Given the description of an element on the screen output the (x, y) to click on. 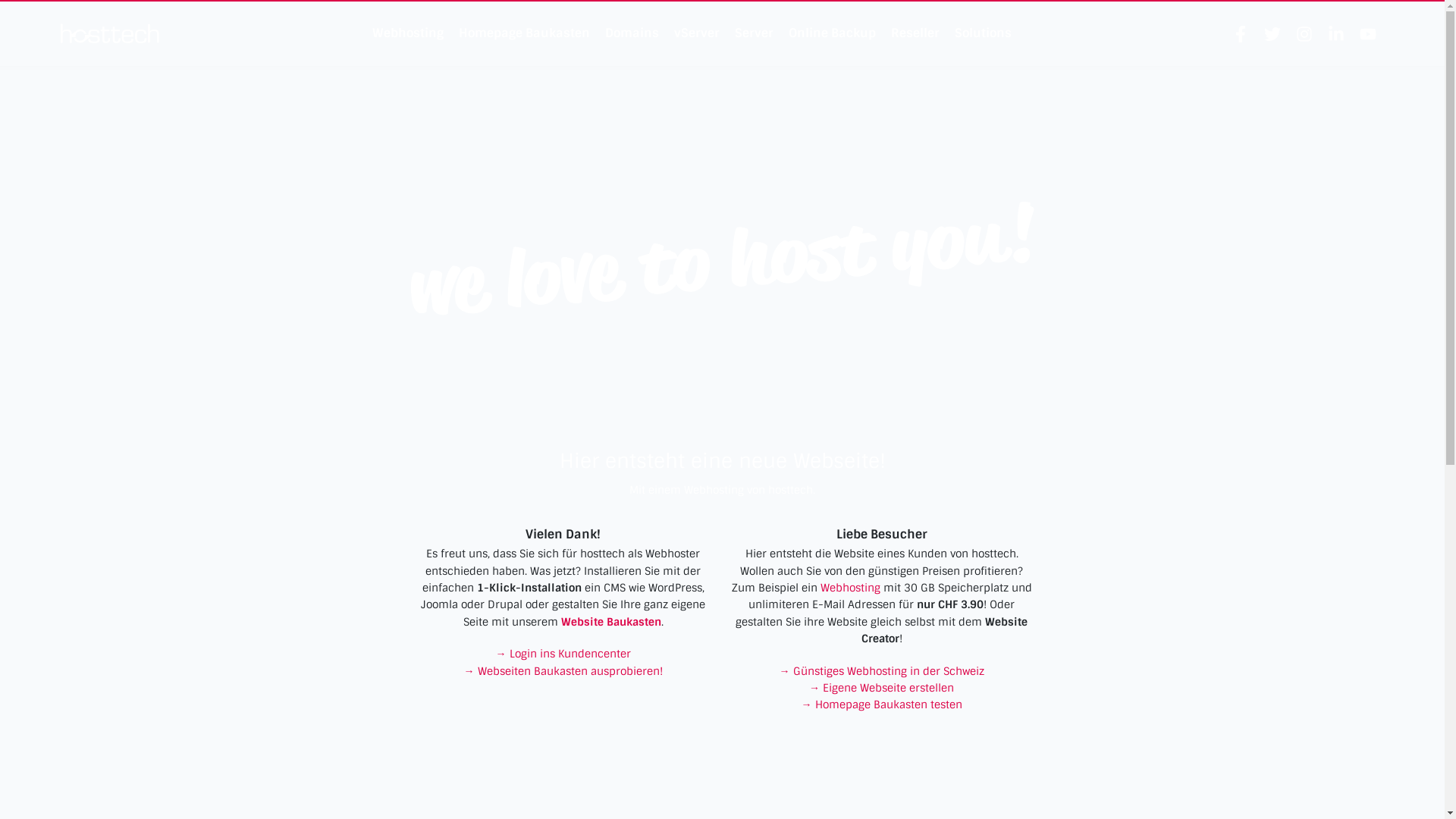
Webhosting Element type: text (407, 32)
Server Element type: text (753, 32)
Online Backup Element type: text (831, 32)
Homepage Baukasten Element type: text (523, 32)
vServer Element type: text (696, 32)
Website Baukasten Element type: text (611, 621)
Webhosting Element type: text (850, 587)
Reseller Element type: text (915, 32)
Domains Element type: text (631, 32)
Solutions Element type: text (982, 32)
